Given the description of an element on the screen output the (x, y) to click on. 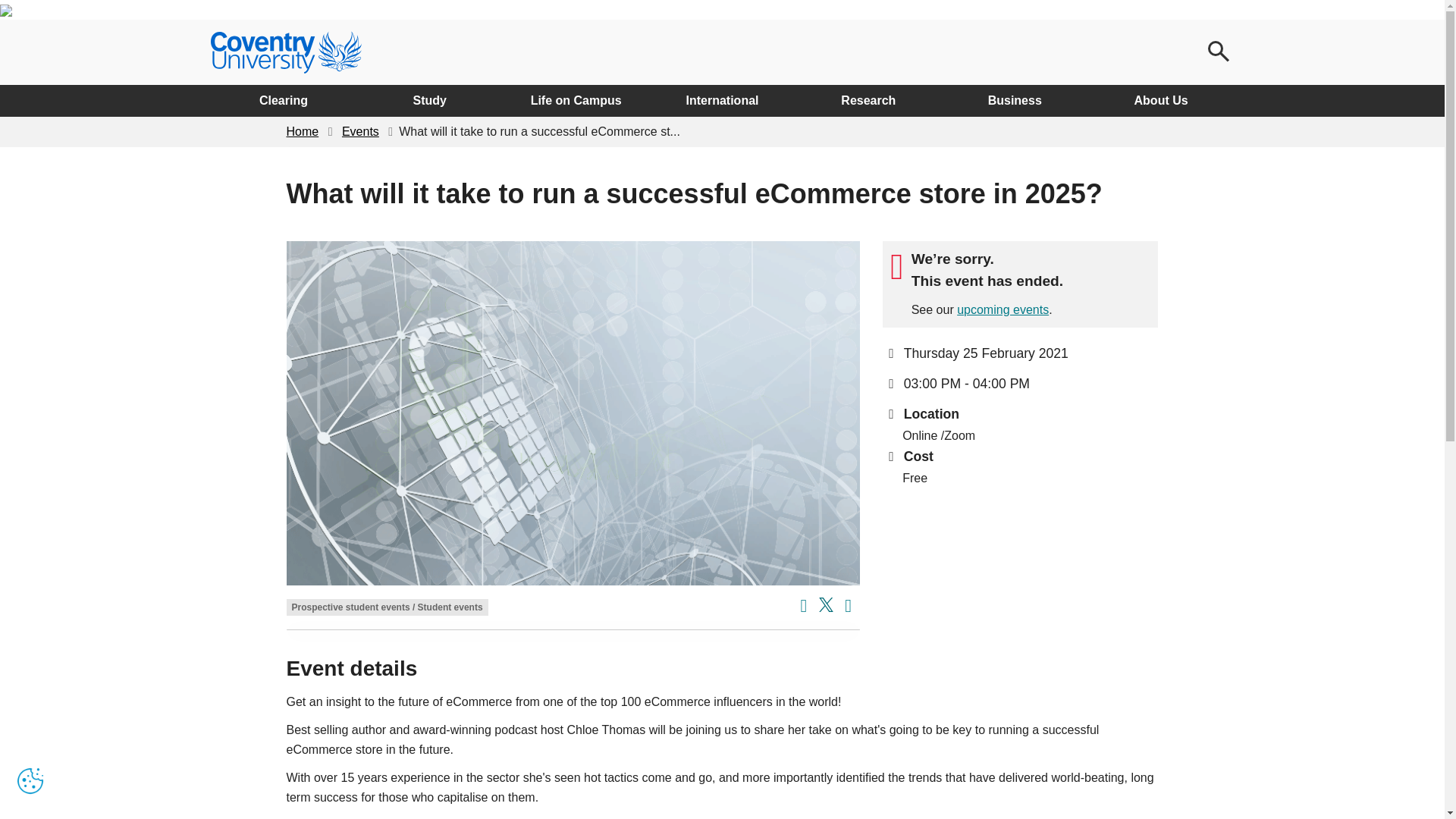
Coventry University (286, 52)
Life on Campus (575, 101)
Study (429, 101)
Clearing (283, 101)
